Given the description of an element on the screen output the (x, y) to click on. 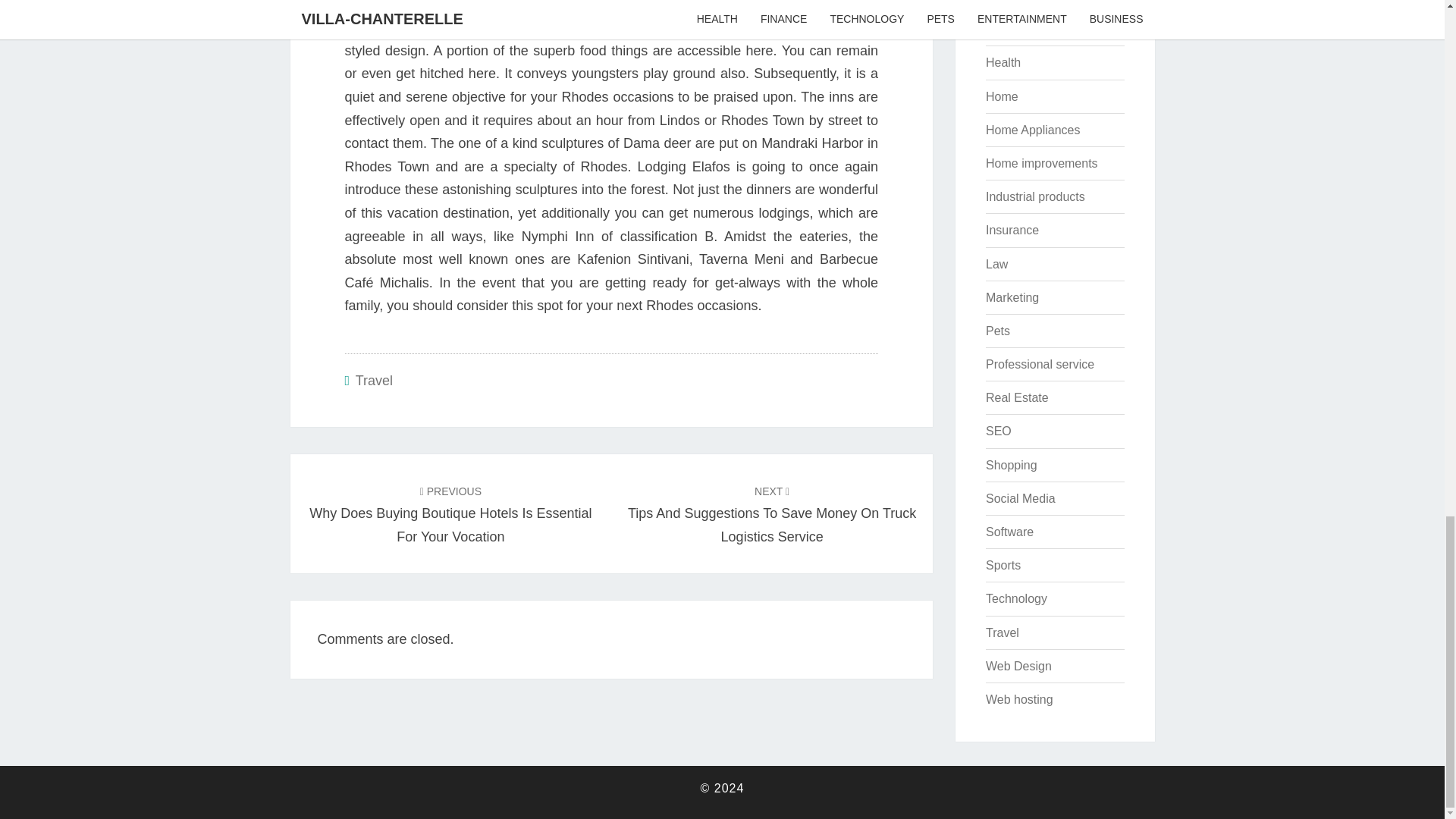
Home Appliances (1032, 129)
General (1007, 29)
Law (996, 264)
Health (1002, 62)
Home (1001, 96)
Games (1005, 1)
Travel (374, 380)
Home improvements (1041, 163)
Industrial products (1034, 196)
Insurance (1012, 229)
